Given the description of an element on the screen output the (x, y) to click on. 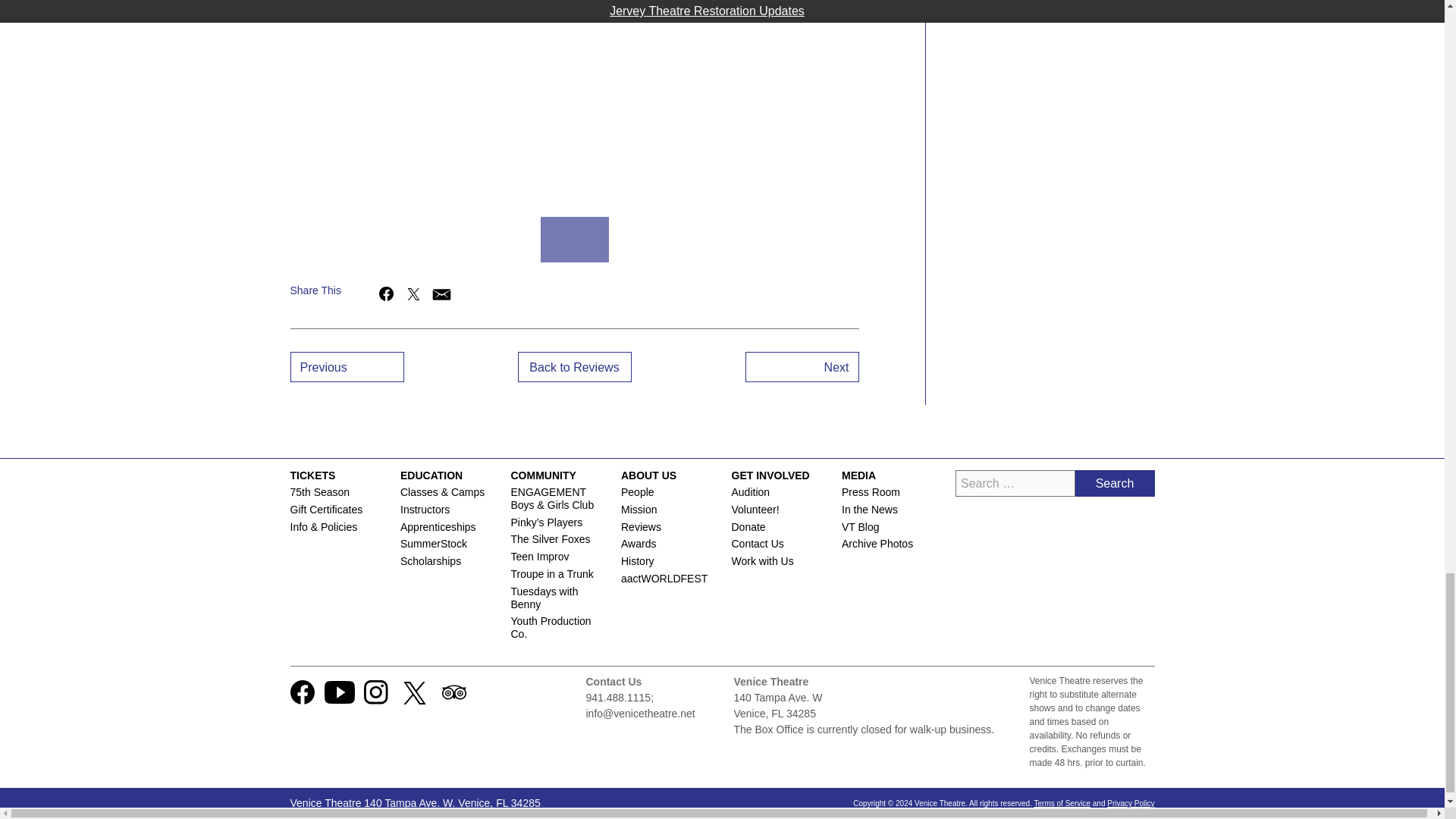
8Y6A1232 (802, 239)
8Y6A1232 (423, 239)
Search (1114, 483)
8Y6A0704 (270, 239)
8Y6A0877 (346, 239)
8Y6A0415 (574, 239)
8Y6A0415 (574, 103)
8Y6A0704 (650, 239)
Search (1114, 483)
8Y6A0877 (726, 239)
